Given the description of an element on the screen output the (x, y) to click on. 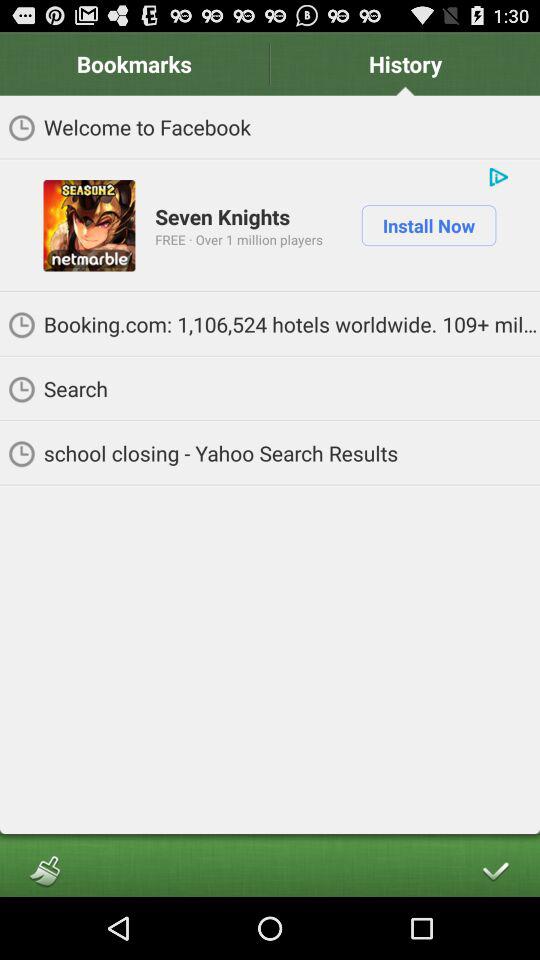
select the icon above the welcome to facebook item (405, 63)
